Given the description of an element on the screen output the (x, y) to click on. 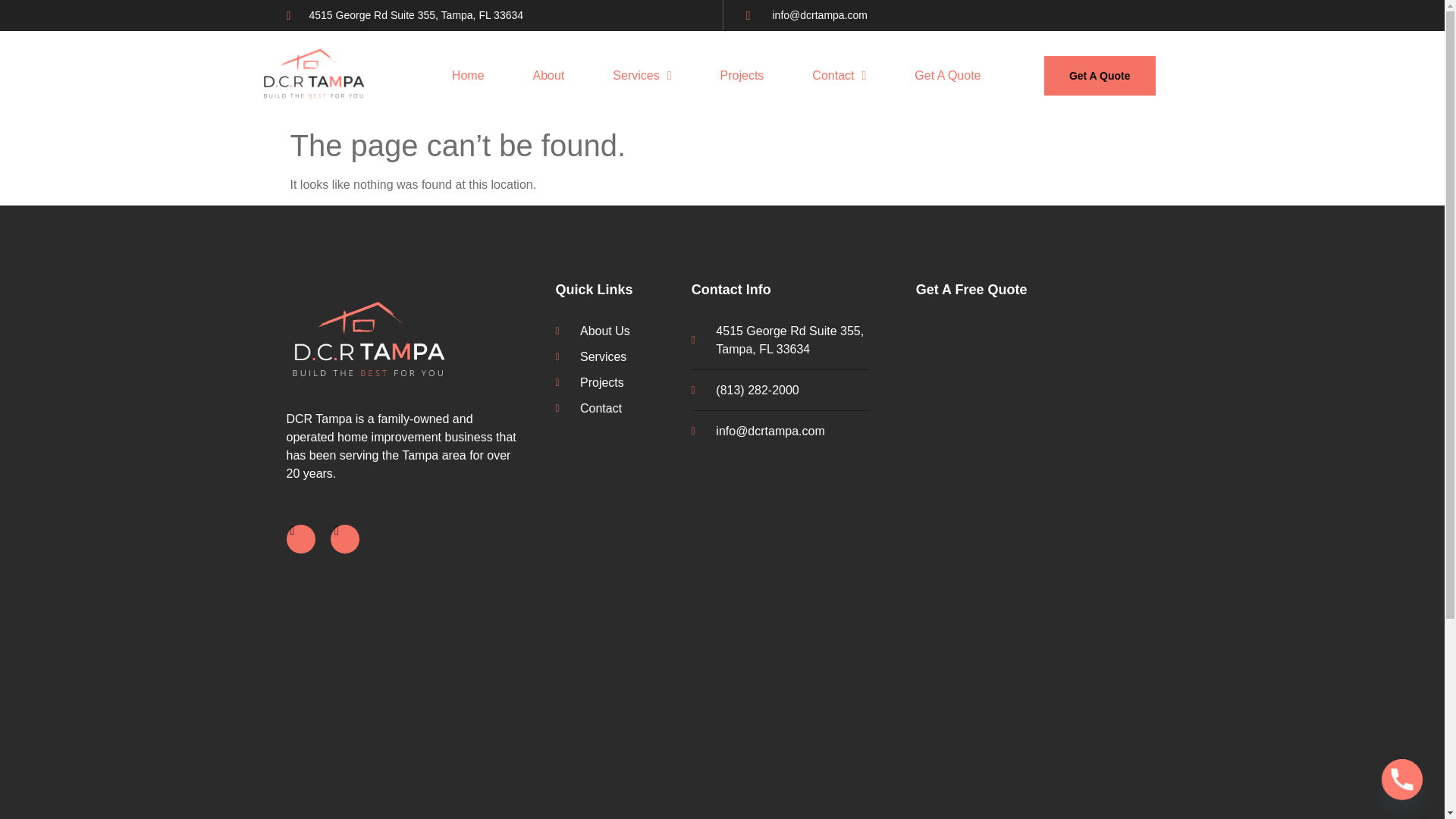
Projects (618, 382)
About (548, 75)
Get A Quote (947, 75)
Get A Free Quote (971, 289)
Contact (838, 75)
4515 George Rd Suite 355, Tampa, FL 33634 (788, 340)
Contact (618, 408)
Projects (741, 75)
About Us (618, 331)
4515 George Rd Suite 355, Tampa, FL 33634 (405, 15)
